Given the description of an element on the screen output the (x, y) to click on. 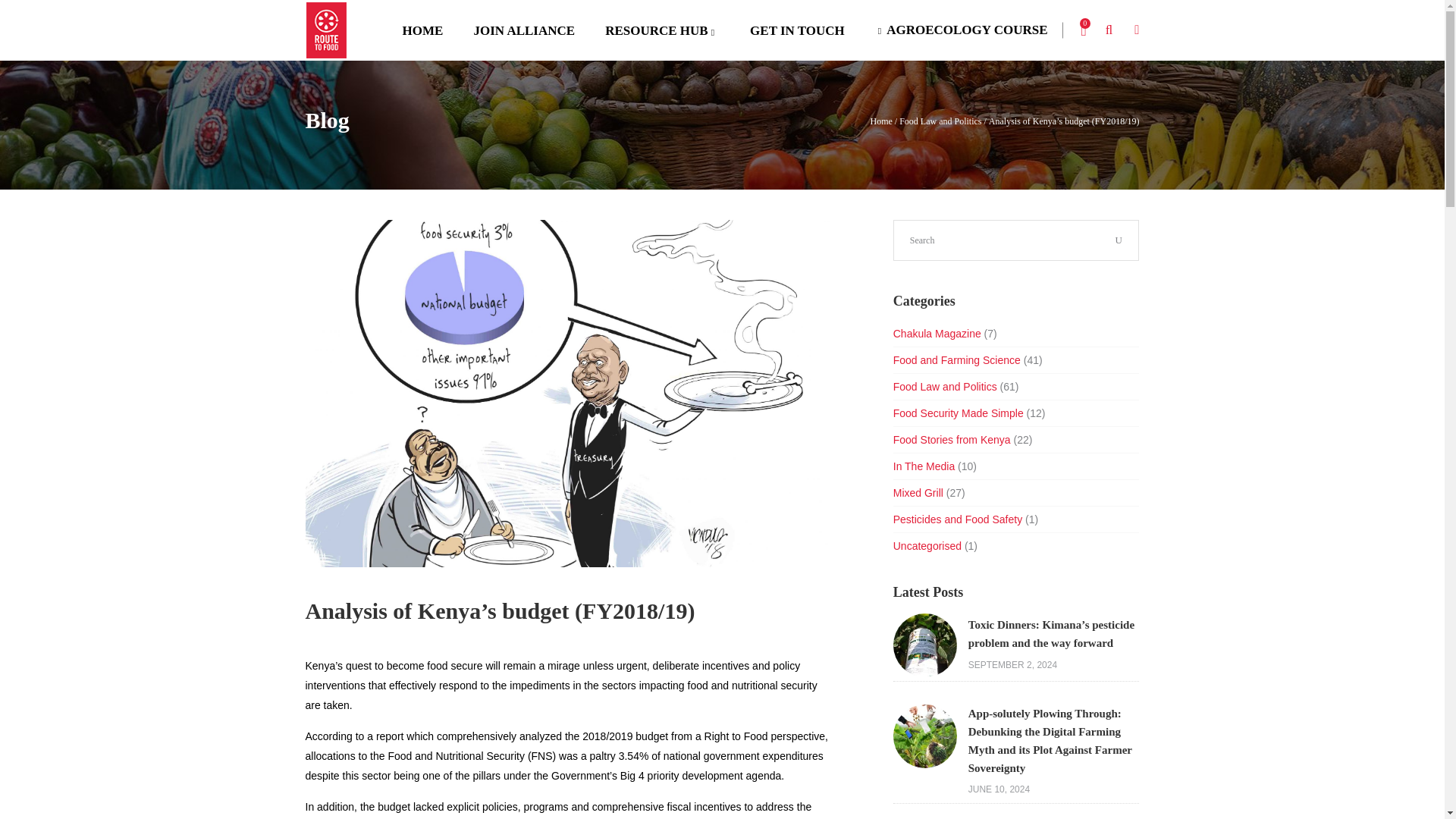
AGROECOLOGY COURSE (961, 29)
GET IN TOUCH (797, 29)
JOIN ALLIANCE (523, 29)
HOME (422, 29)
RESOURCE HUB (662, 29)
Home (881, 121)
Food Law and Politics (940, 121)
